Given the description of an element on the screen output the (x, y) to click on. 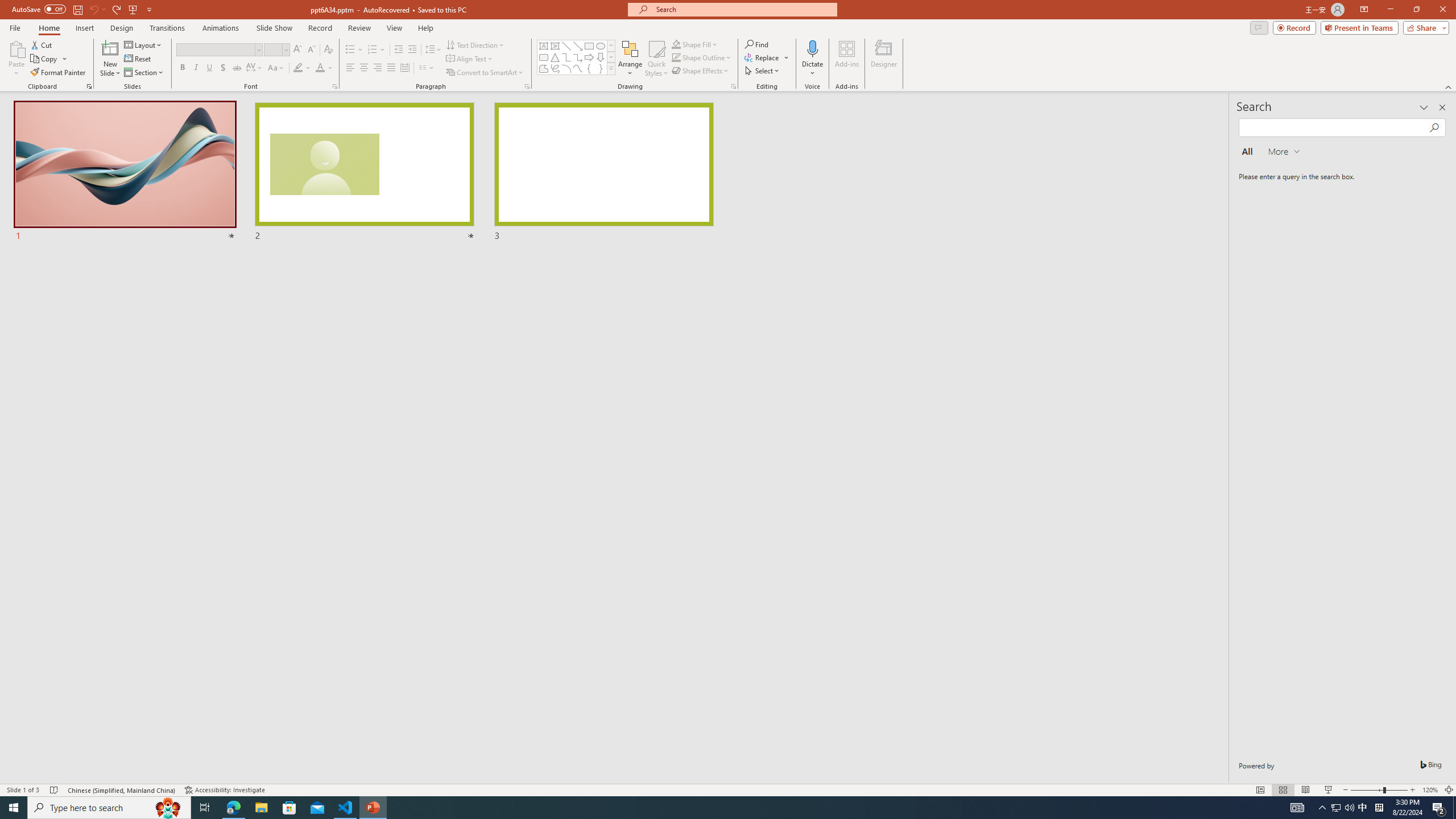
Zoom 120% (1430, 790)
